Given the description of an element on the screen output the (x, y) to click on. 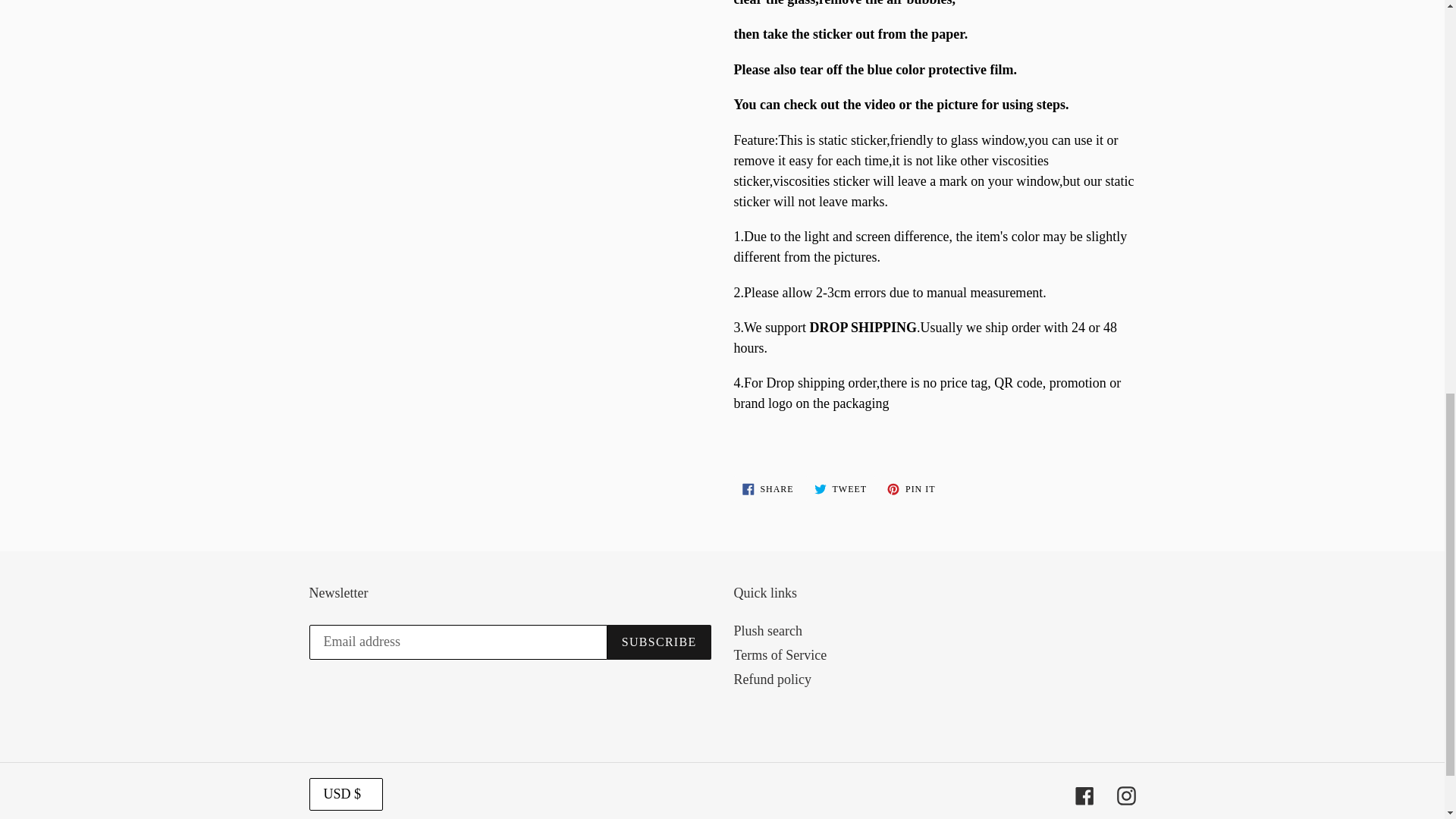
Terms of Service (780, 654)
SUBSCRIBE (767, 488)
Plush search (911, 488)
Refund policy (840, 488)
